Given the description of an element on the screen output the (x, y) to click on. 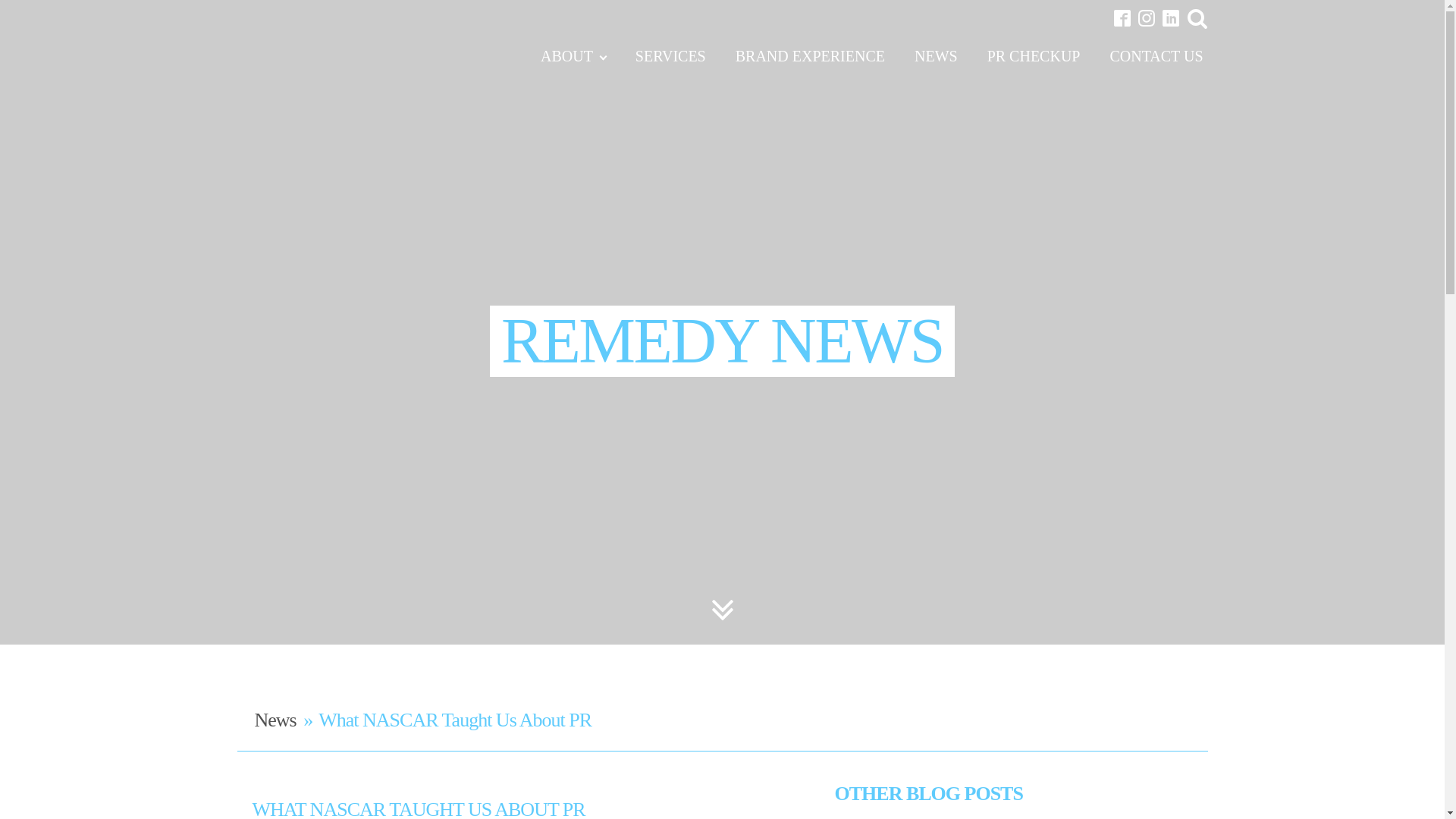
BRAND EXPERIENCE (809, 55)
SERVICES (670, 55)
PR CHECKUP (1033, 55)
NEWS (935, 55)
Breadcrumb link to News (275, 720)
ABOUT (572, 55)
News (275, 720)
CONTACT US (1155, 55)
